Given the description of an element on the screen output the (x, y) to click on. 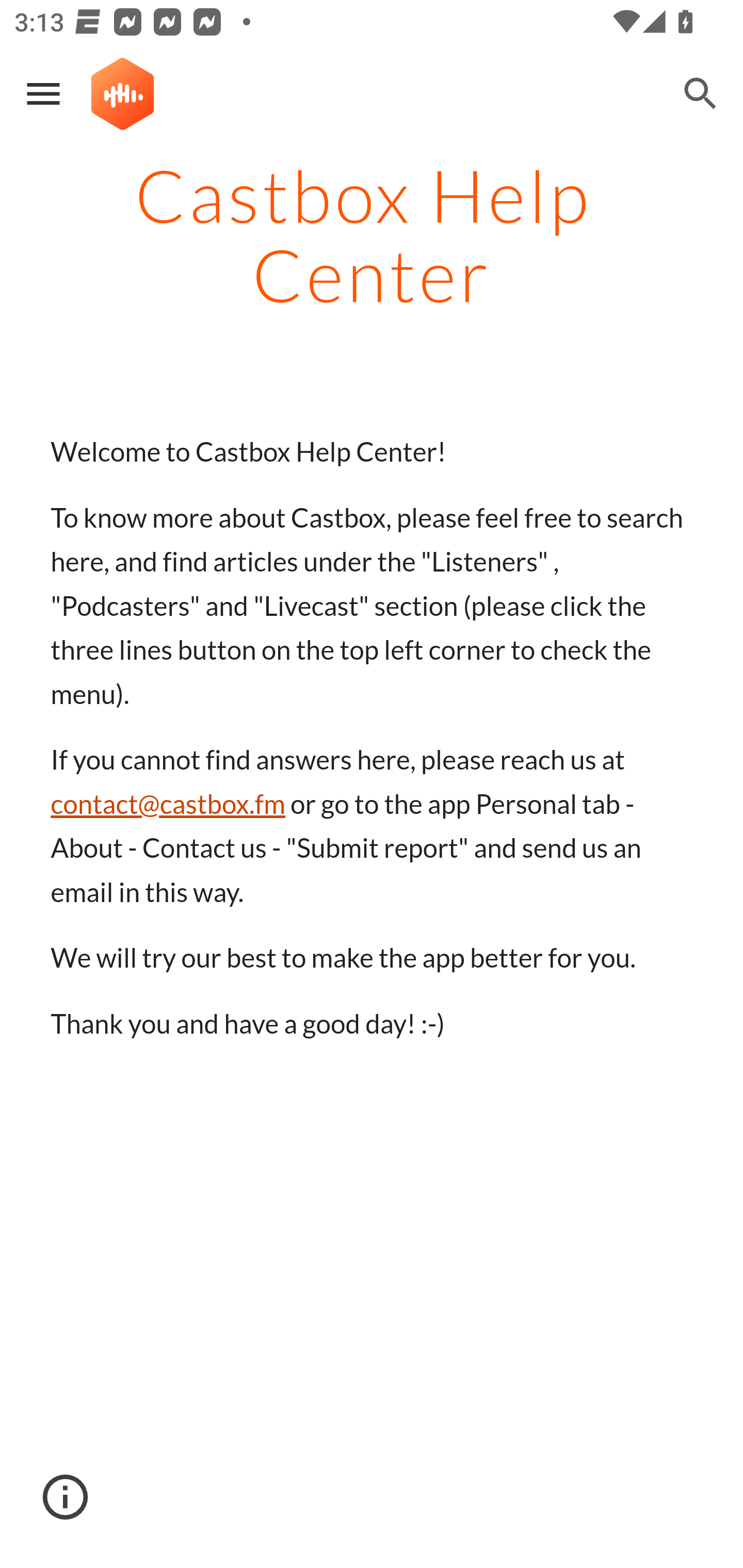
Skip to navigation (608, 109)
contact@castbox.fm (168, 804)
Site actions (65, 1497)
